Given the description of an element on the screen output the (x, y) to click on. 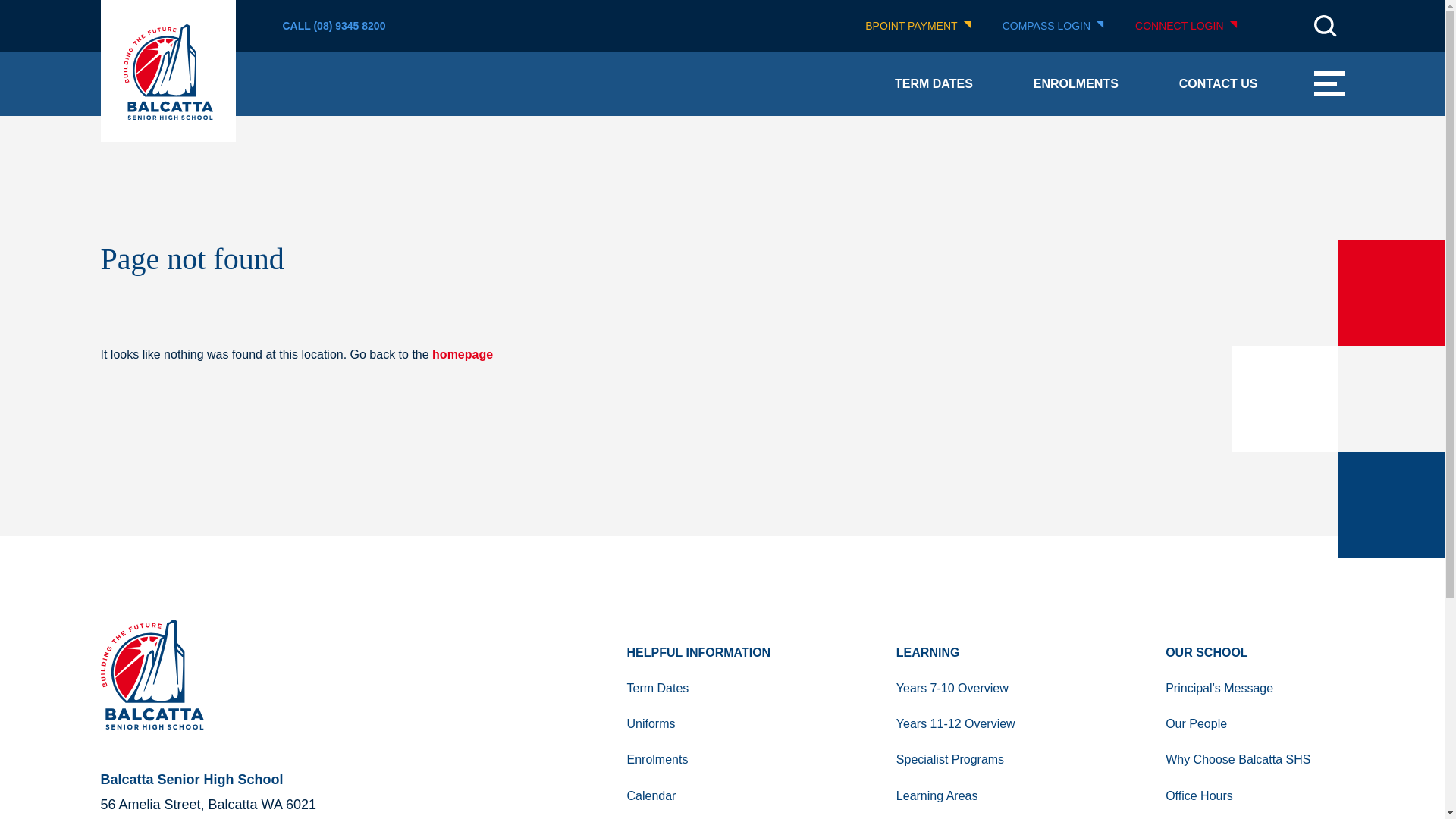
Uniforms (716, 723)
Calendar (716, 796)
BPOINT PAYMENT (917, 25)
ENROLMENTS (1075, 83)
COMPASS LOGIN (1054, 25)
Years 7-10 Overview (985, 687)
Term Dates (716, 687)
Learning Areas (985, 796)
Parent Interview Bookings (716, 816)
Years 11-12 Overview (985, 723)
CONTACT US (1218, 83)
CONNECT LOGIN (1186, 25)
homepage (462, 354)
LEARNING (985, 652)
TERM DATES (933, 83)
